Given the description of an element on the screen output the (x, y) to click on. 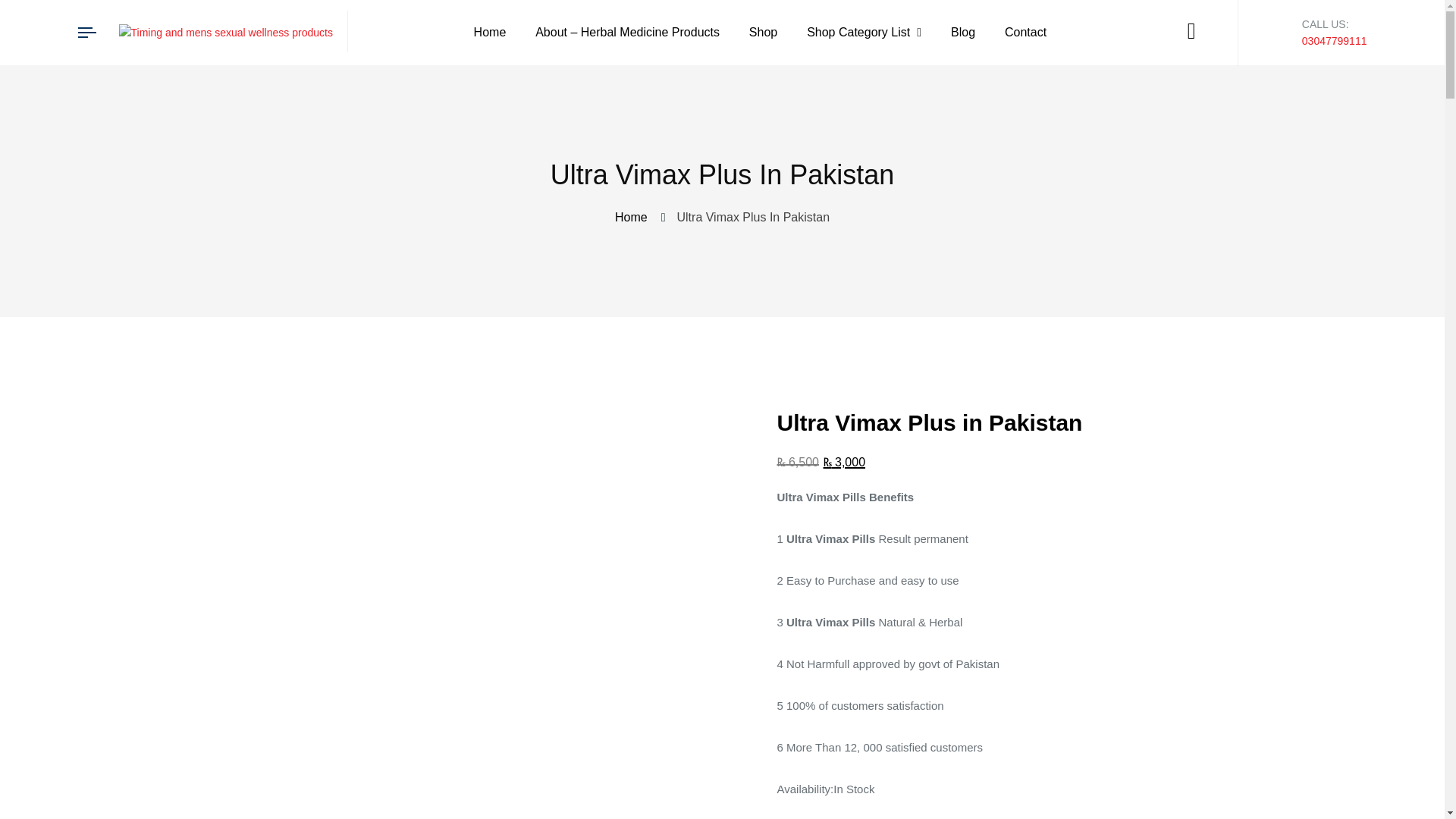
Shop Category List (863, 32)
Home   (633, 216)
03047799111 (1334, 40)
